Given the description of an element on the screen output the (x, y) to click on. 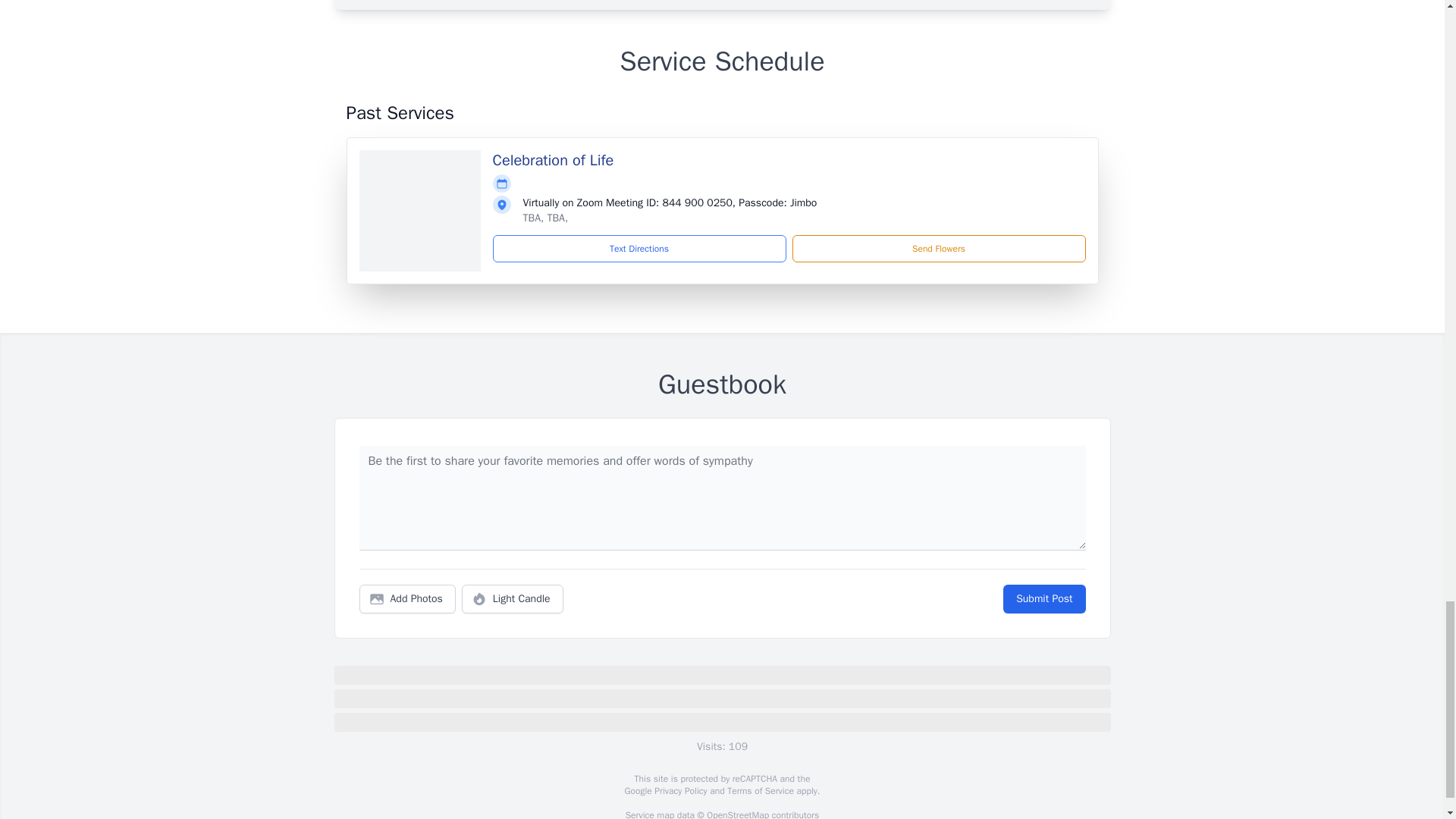
Send Flowers (938, 248)
Add Photos (407, 598)
Terms of Service (759, 790)
Privacy Policy (679, 790)
OpenStreetMap (737, 814)
Text Directions (639, 248)
Light Candle (512, 598)
TBA, TBA, (545, 217)
Submit Post (1043, 598)
